Given the description of an element on the screen output the (x, y) to click on. 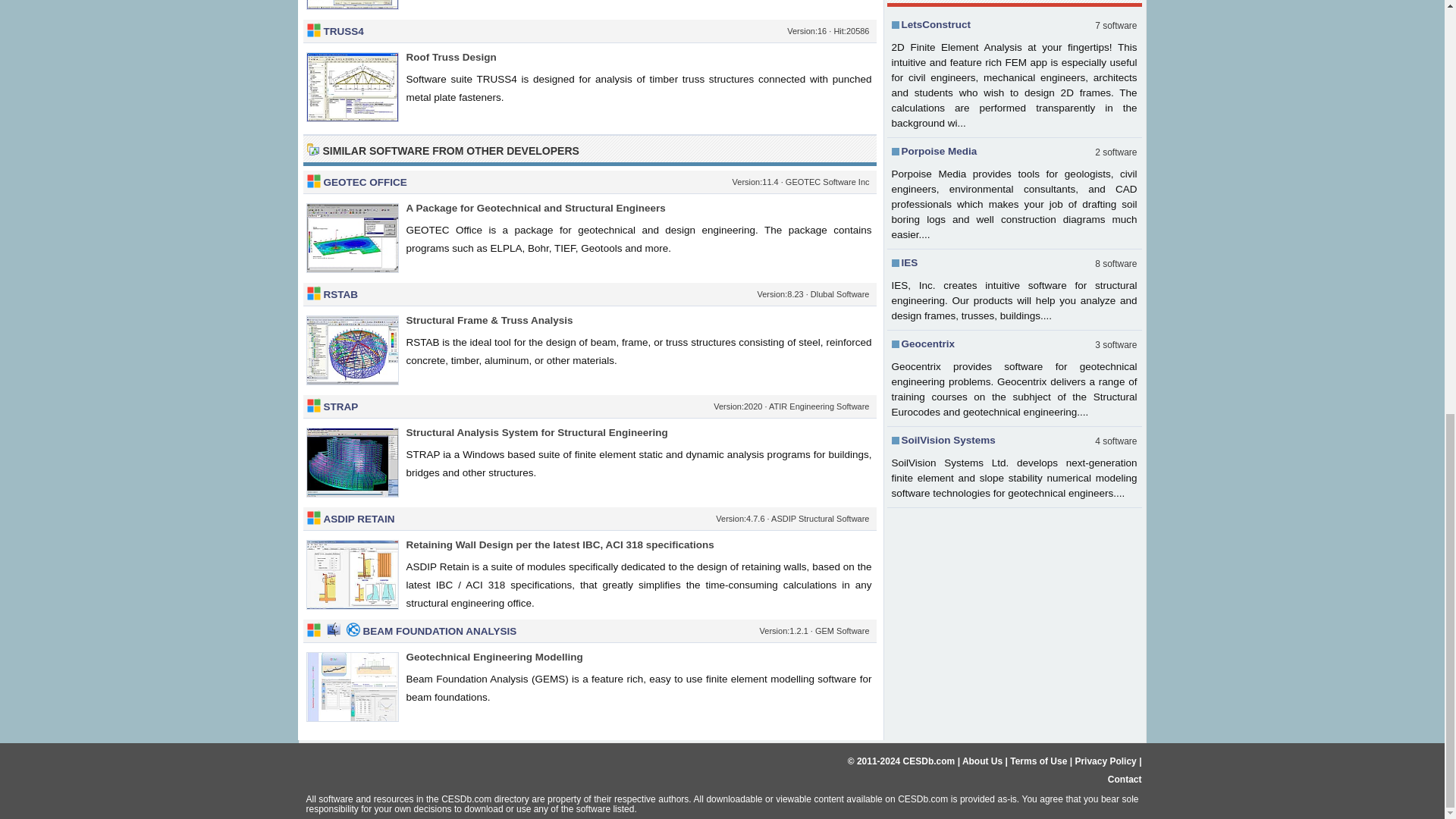
ASDIP RETAIN (358, 518)
RSTAB (340, 294)
A Package for Geotechnical and Structural Engineers (535, 207)
Structural Analysis System for Structural Engineering (537, 432)
BEAM FOUNDATION ANALYSIS (439, 631)
TRUSS4 (342, 30)
STRAP (340, 406)
GEOTEC OFFICE (364, 182)
Roof Truss Design (451, 57)
